Given the description of an element on the screen output the (x, y) to click on. 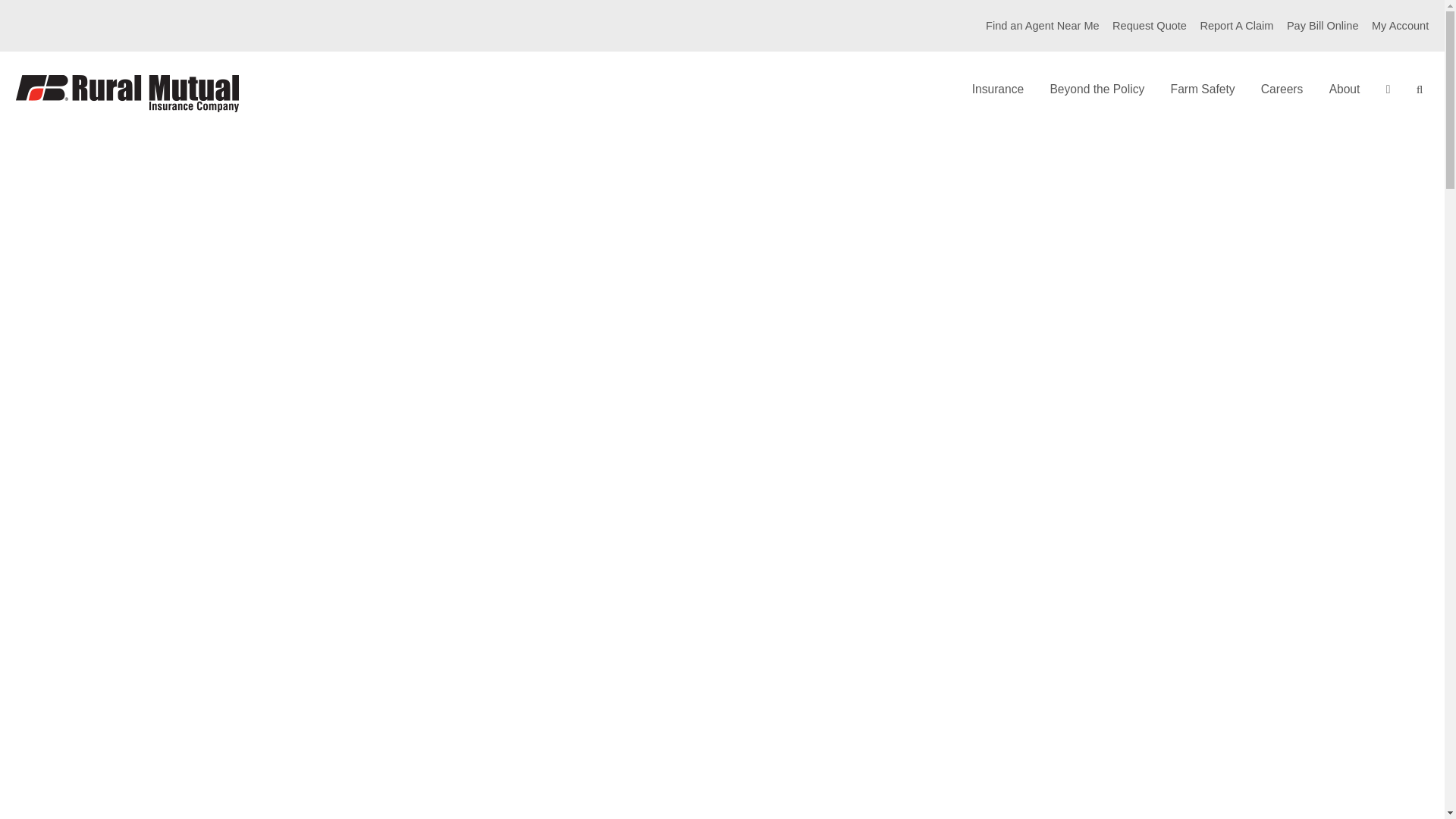
Request Quote (1149, 26)
Insurance (997, 89)
My Account (1399, 26)
Beyond the Policy (1096, 89)
About (1344, 89)
Farm Safety (1202, 89)
Careers (1281, 89)
Find an Agent Near Me (1042, 26)
Pay Bill Online (1322, 26)
Report A Claim (1235, 26)
